Given the description of an element on the screen output the (x, y) to click on. 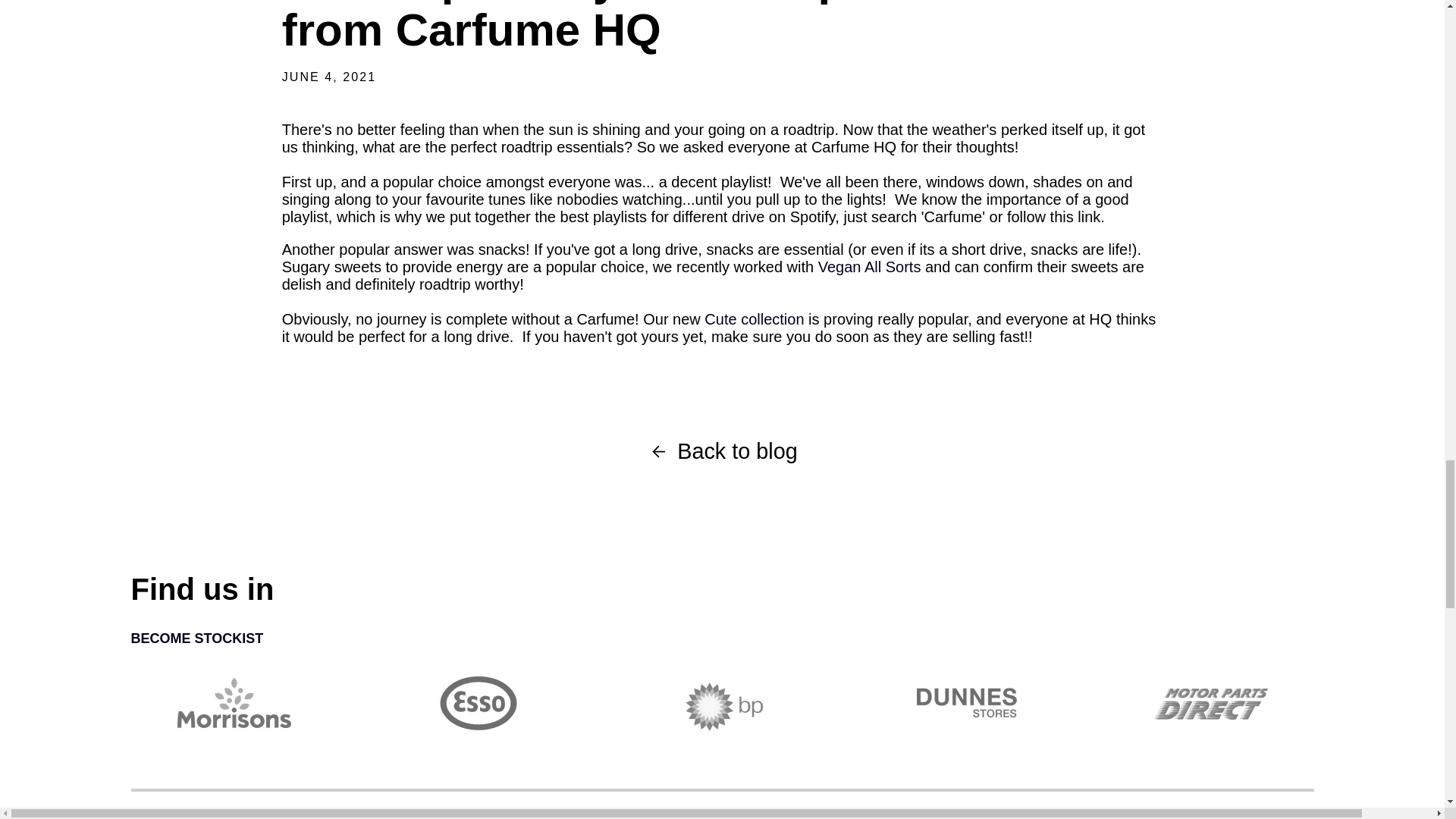
Cute collection (753, 319)
BECOME STOCKIST (722, 638)
Vegan All Sorts (869, 266)
